Given the description of an element on the screen output the (x, y) to click on. 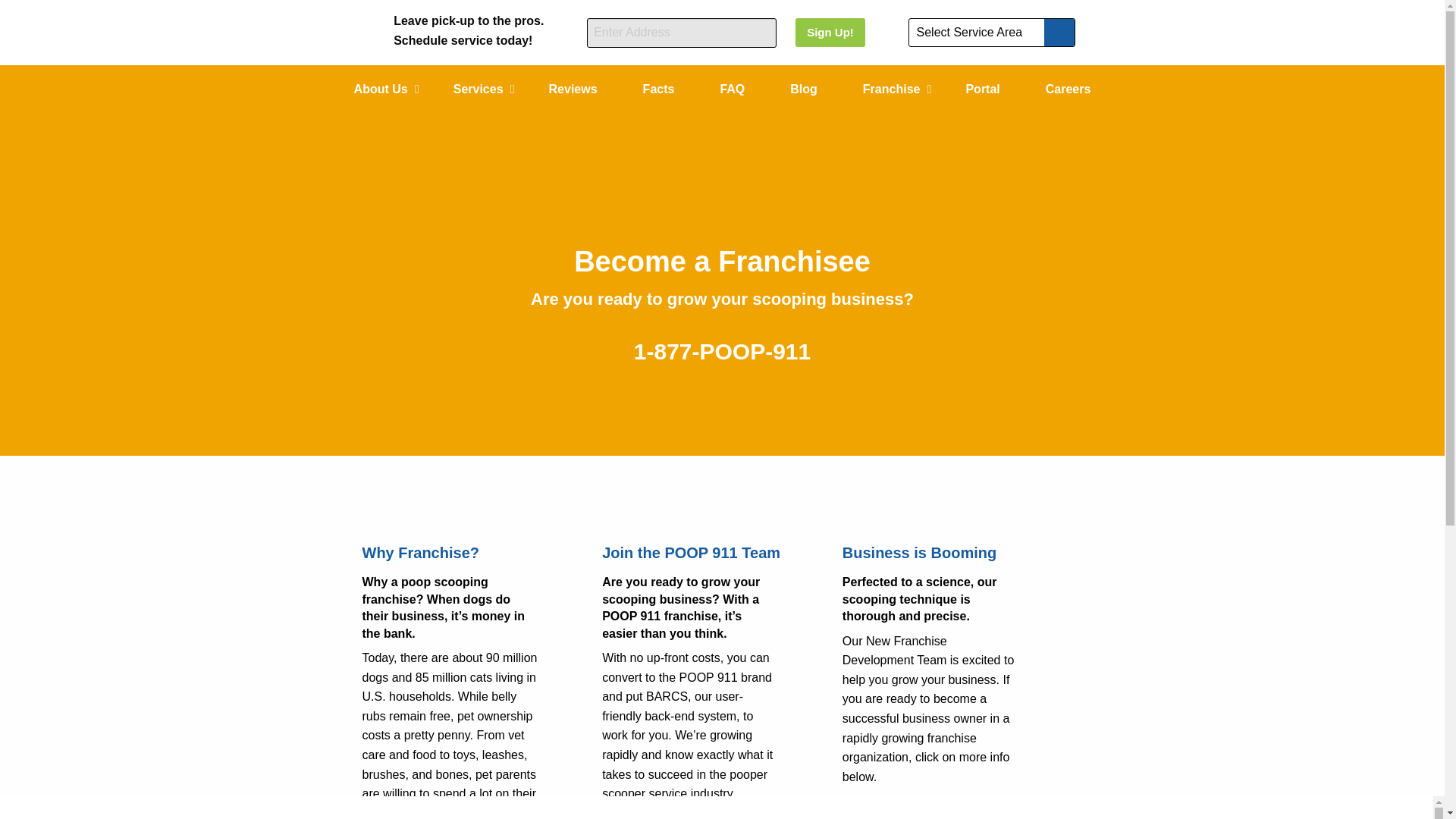
Sign Up! (829, 31)
Sign Up! (829, 31)
Select Service Area (991, 32)
